Given the description of an element on the screen output the (x, y) to click on. 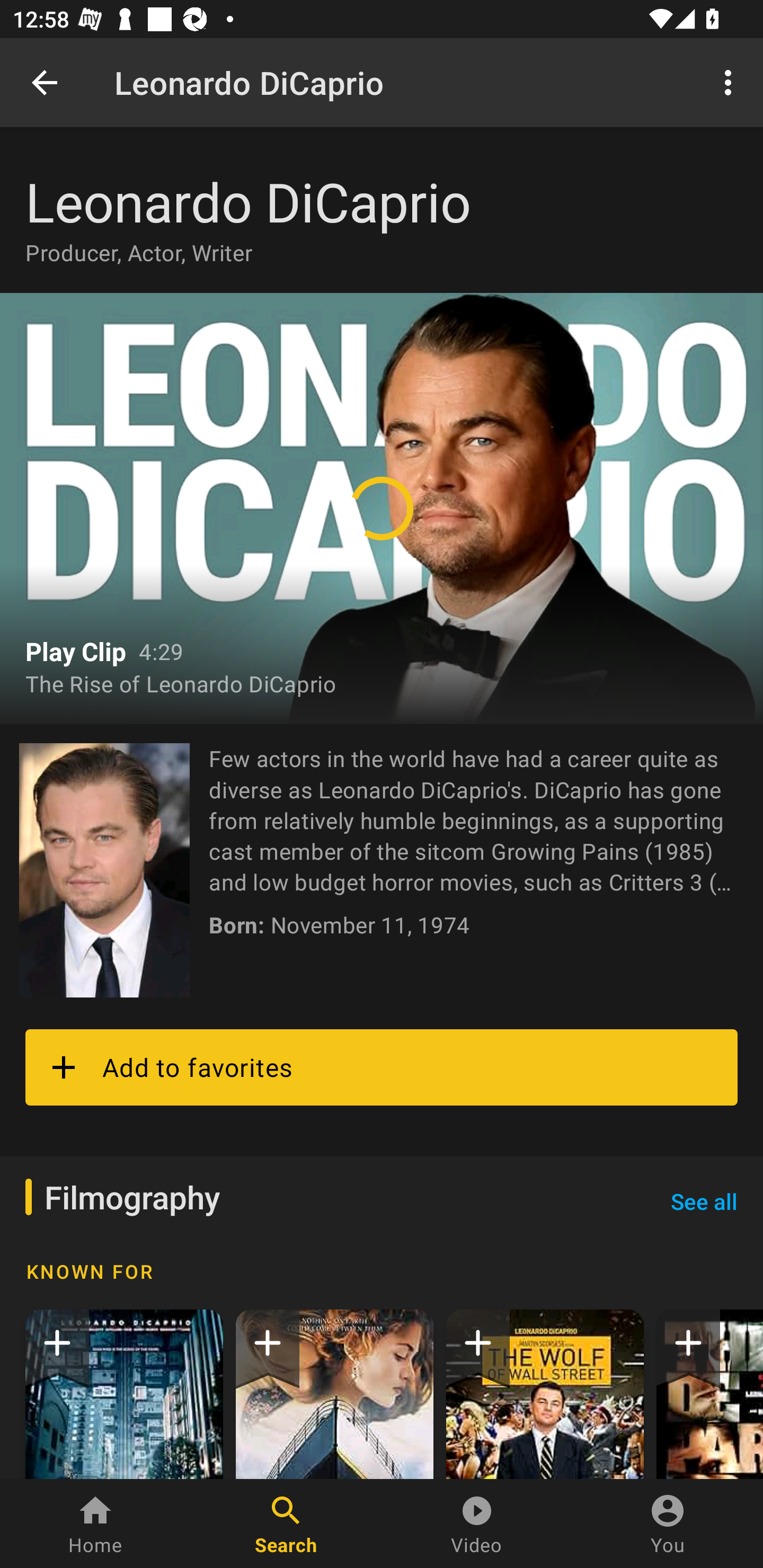
More options (731, 81)
Add to favorites (381, 1066)
See all See all  (703, 1201)
Home (95, 1523)
Video (476, 1523)
You (667, 1523)
